Given the description of an element on the screen output the (x, y) to click on. 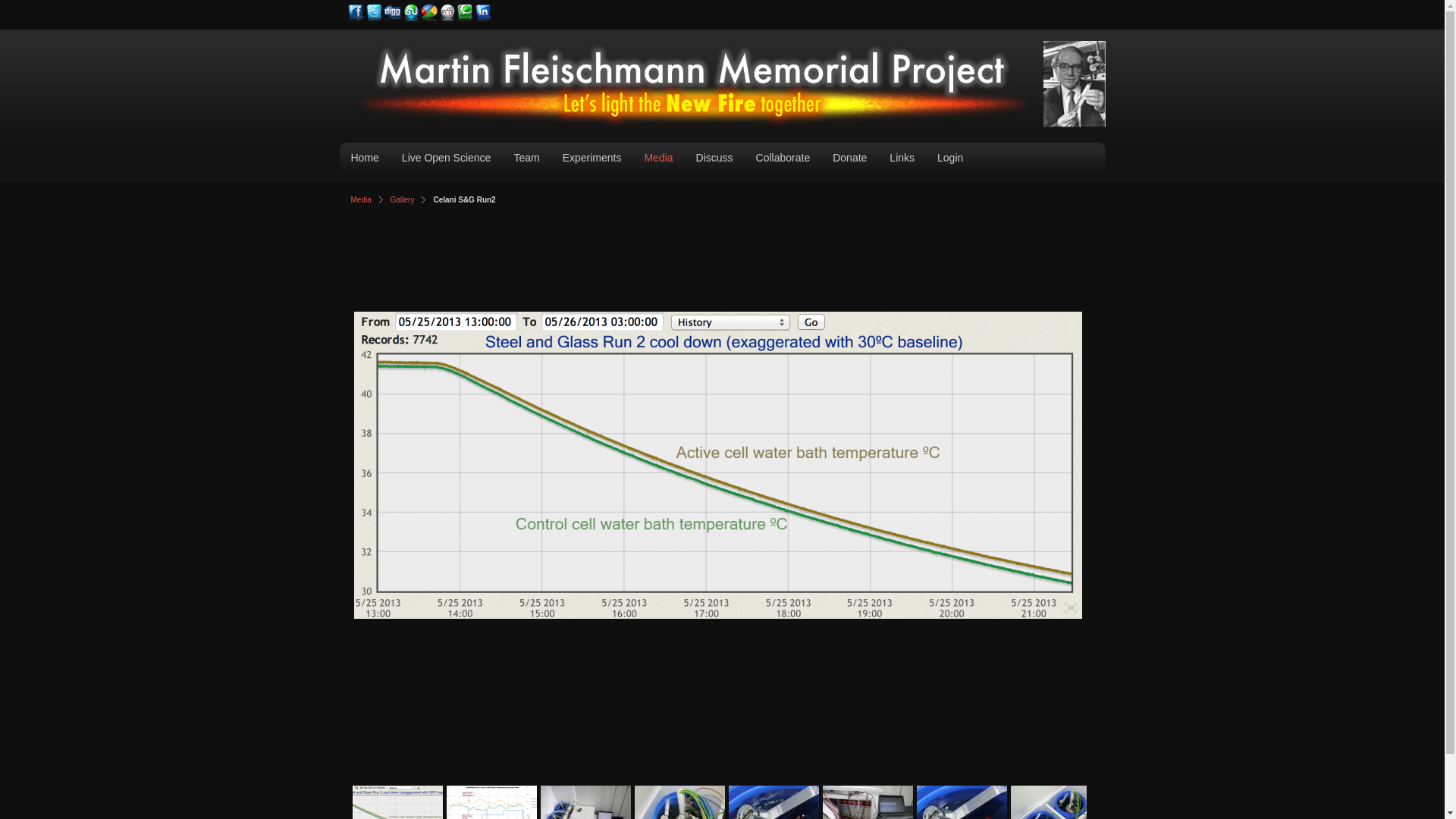
Home (363, 157)
Twitter (374, 13)
Team (526, 157)
technorati (465, 13)
Stumbleupon (410, 13)
linkedin (483, 13)
reddit (447, 13)
Digg (392, 13)
Experiments (591, 157)
Media (657, 157)
Facebook (356, 13)
Live Open Science (446, 157)
Google Bookmarks (429, 13)
